Given the description of an element on the screen output the (x, y) to click on. 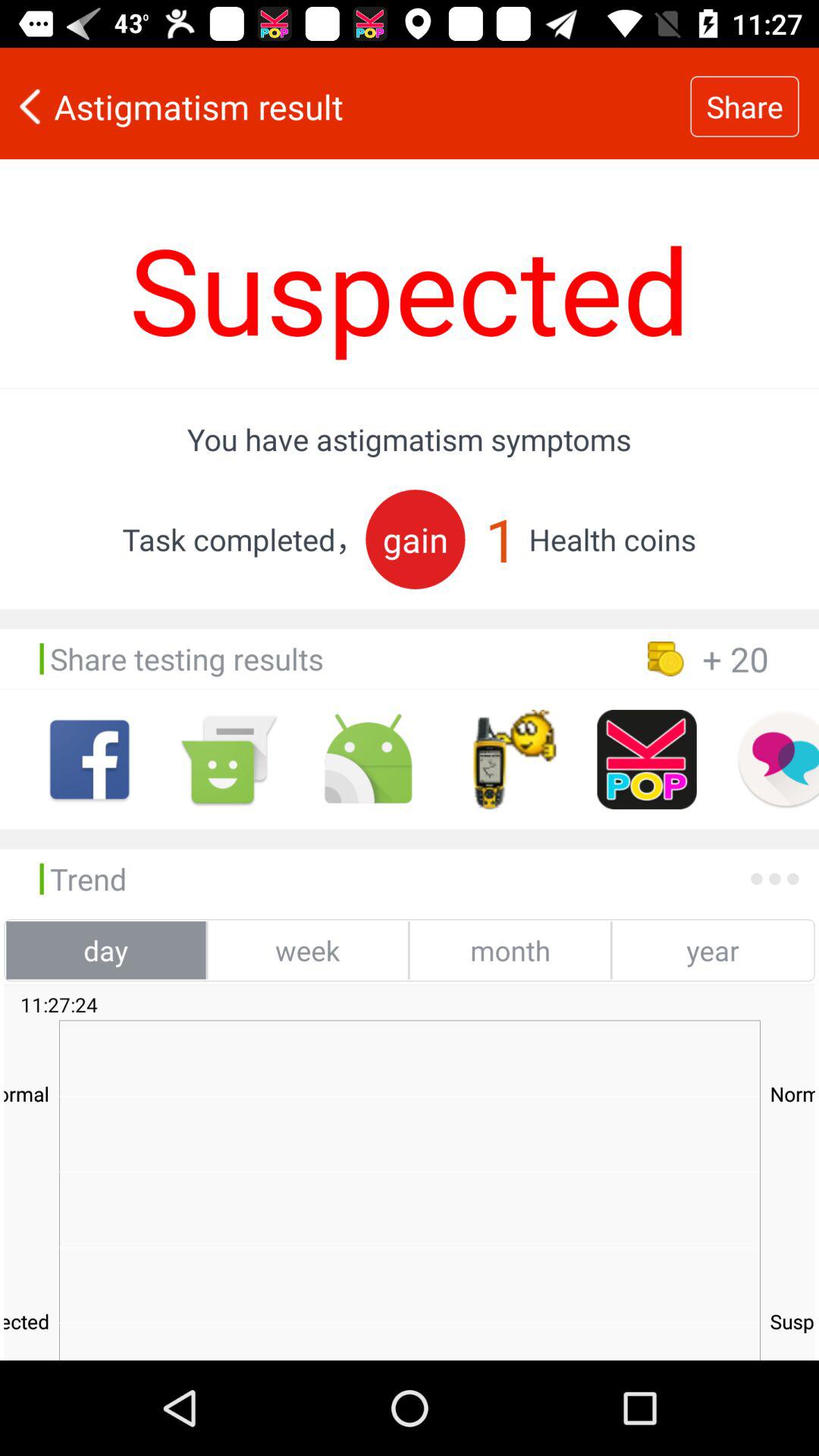
chat (777, 759)
